Given the description of an element on the screen output the (x, y) to click on. 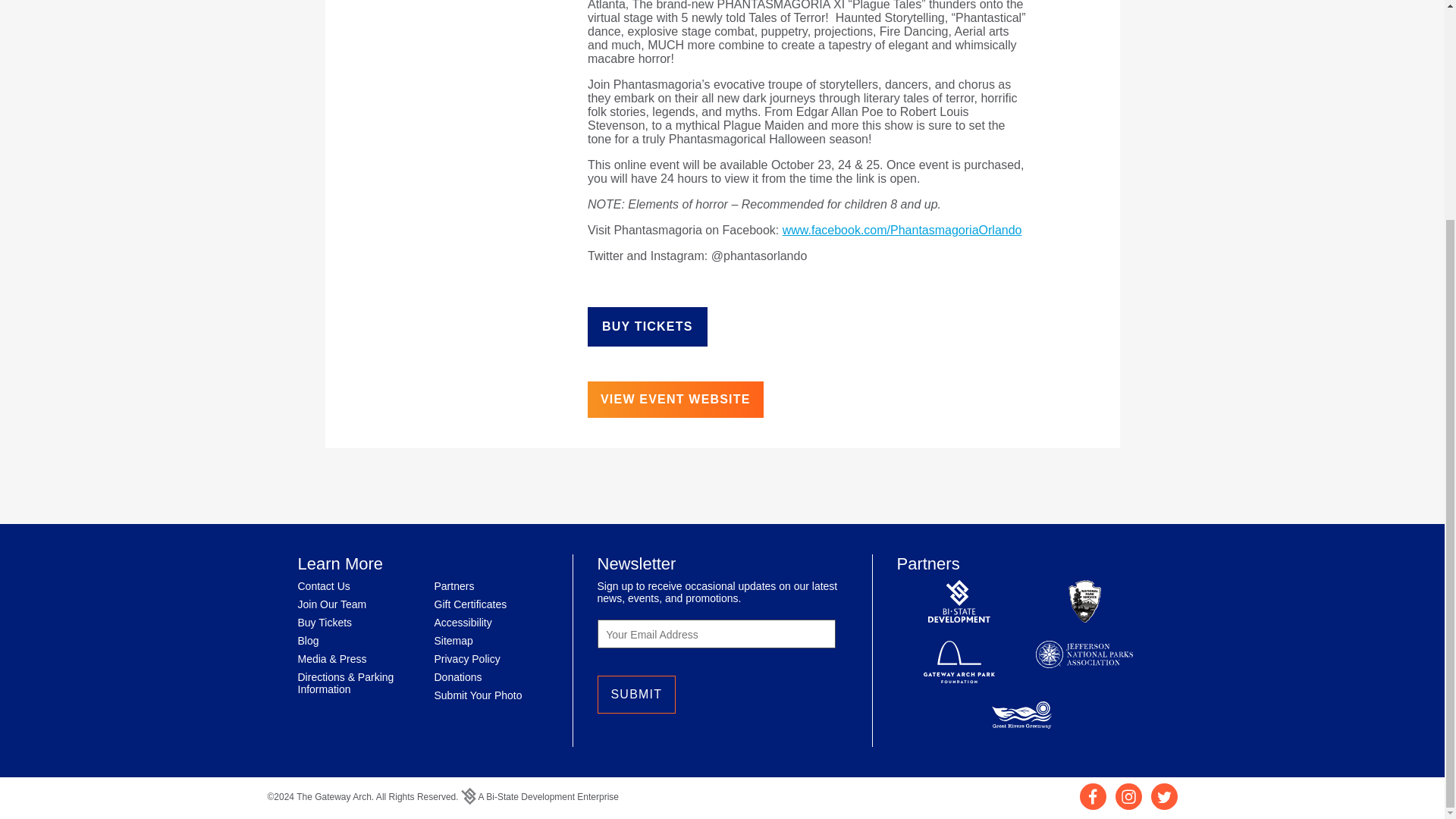
Facebook (1093, 805)
Blog (307, 640)
Gateway Arch Park Foundation (959, 663)
Twitter (1164, 805)
Join Our Team (331, 604)
Contact Us (323, 585)
BUY TICKETS (647, 326)
National Park Service (1083, 602)
Instagram (1128, 805)
Great Rivers Greenway (1021, 716)
